Given the description of an element on the screen output the (x, y) to click on. 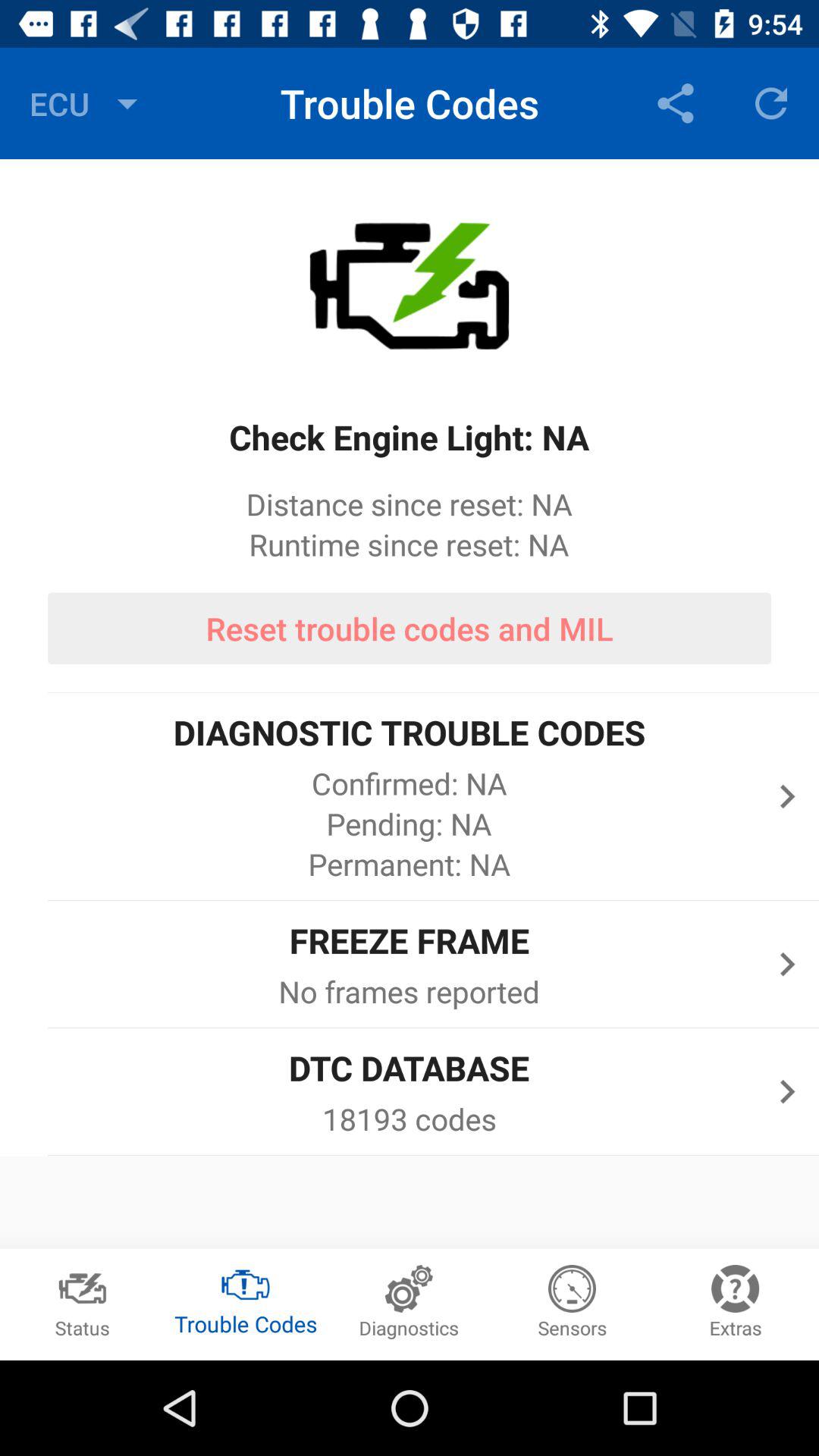
jump until the ecu icon (87, 103)
